Given the description of an element on the screen output the (x, y) to click on. 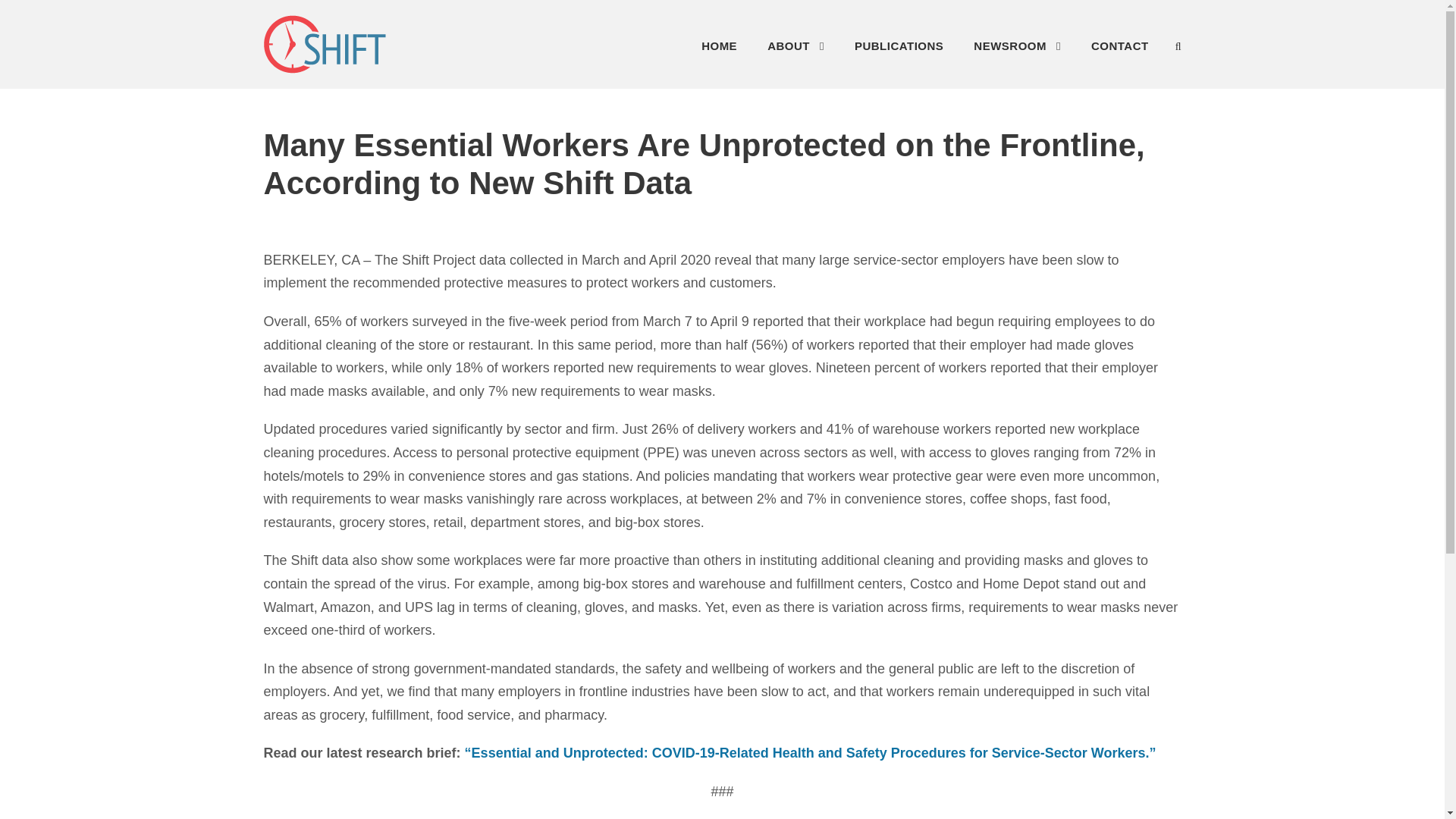
PUBLICATIONS (898, 50)
HOME (718, 50)
ABOUT (795, 50)
CONTACT (1119, 50)
NEWSROOM (1017, 50)
